Given the description of an element on the screen output the (x, y) to click on. 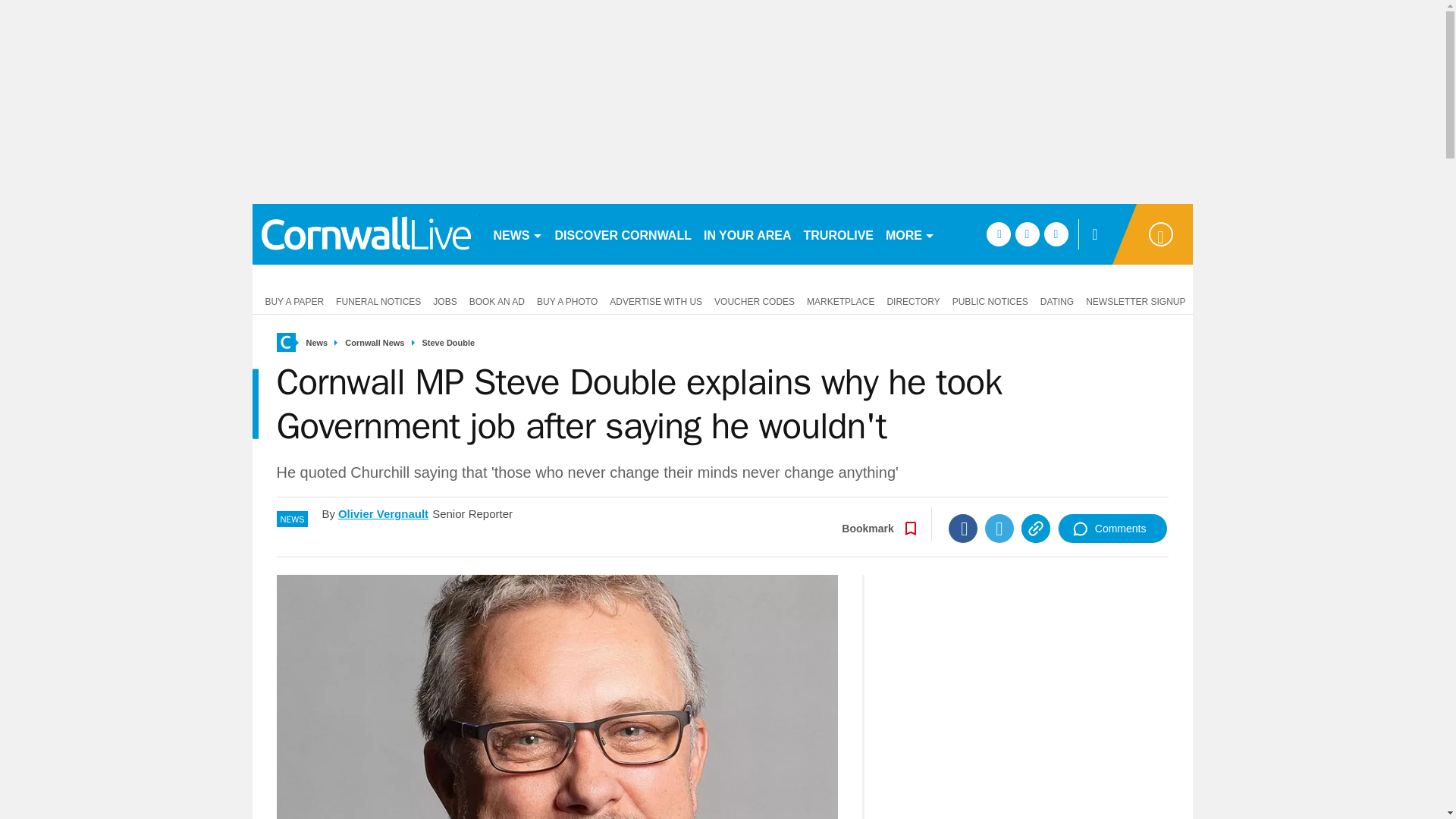
twitter (1026, 233)
NEWS (517, 233)
MORE (909, 233)
Twitter (999, 528)
IN YOUR AREA (747, 233)
facebook (997, 233)
Facebook (962, 528)
instagram (1055, 233)
Comments (1112, 528)
TRUROLIVE (838, 233)
